Given the description of an element on the screen output the (x, y) to click on. 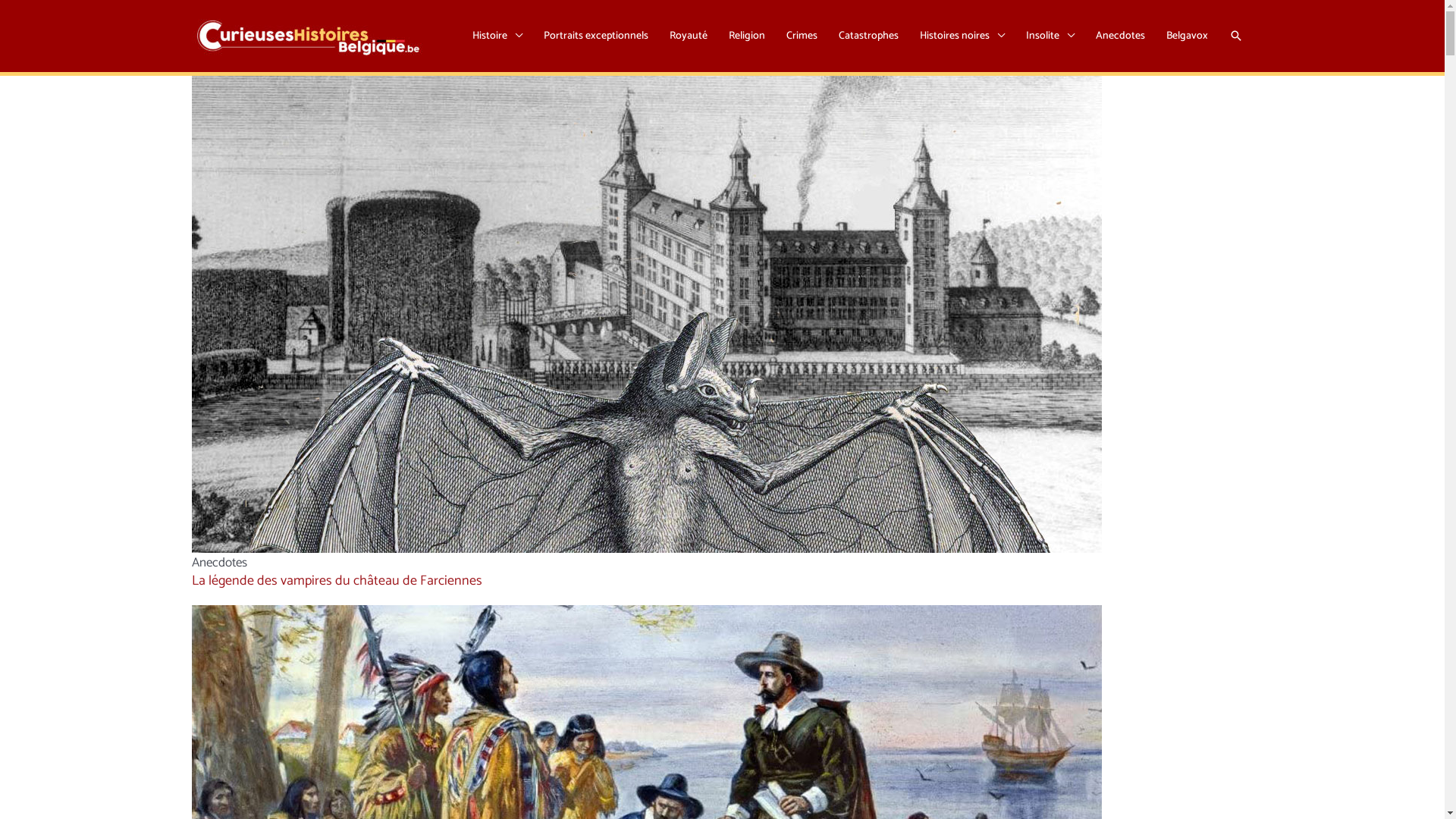
Insolite Element type: text (1049, 36)
Religion Element type: text (746, 36)
Anecdotes Element type: text (1119, 36)
Histoires noires Element type: text (961, 36)
Belgavox Element type: text (1186, 36)
Crimes Element type: text (801, 36)
Histoire Element type: text (496, 36)
Portraits exceptionnels Element type: text (595, 36)
Catastrophes Element type: text (868, 36)
Rechercher Element type: text (1235, 35)
